Given the description of an element on the screen output the (x, y) to click on. 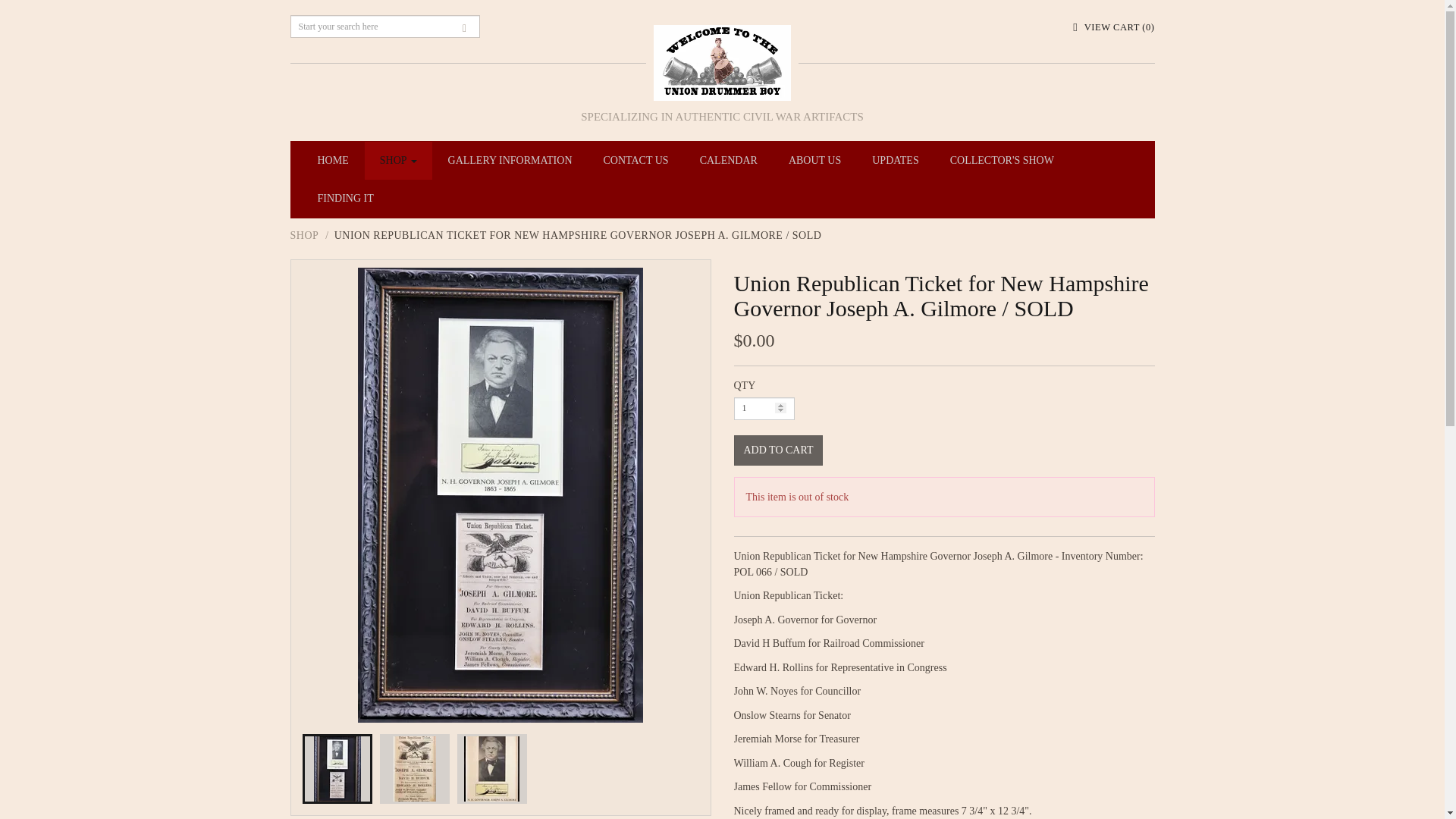
SHOP (398, 160)
HOME (331, 160)
1 (763, 408)
Add to Cart (778, 450)
